Given the description of an element on the screen output the (x, y) to click on. 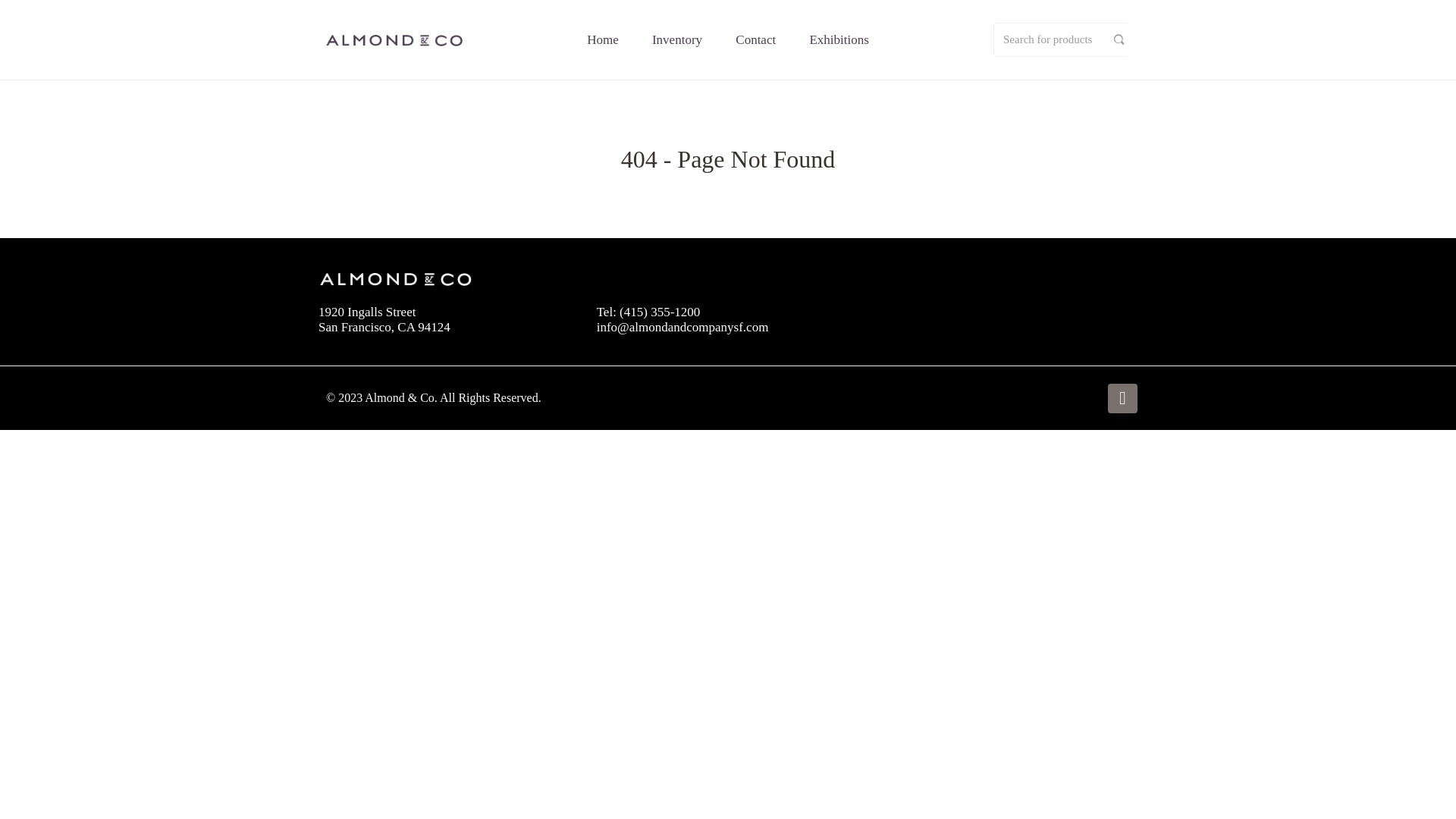
Contact (755, 39)
Inventory (676, 39)
Home (602, 39)
Exhibitions (838, 39)
